Given the description of an element on the screen output the (x, y) to click on. 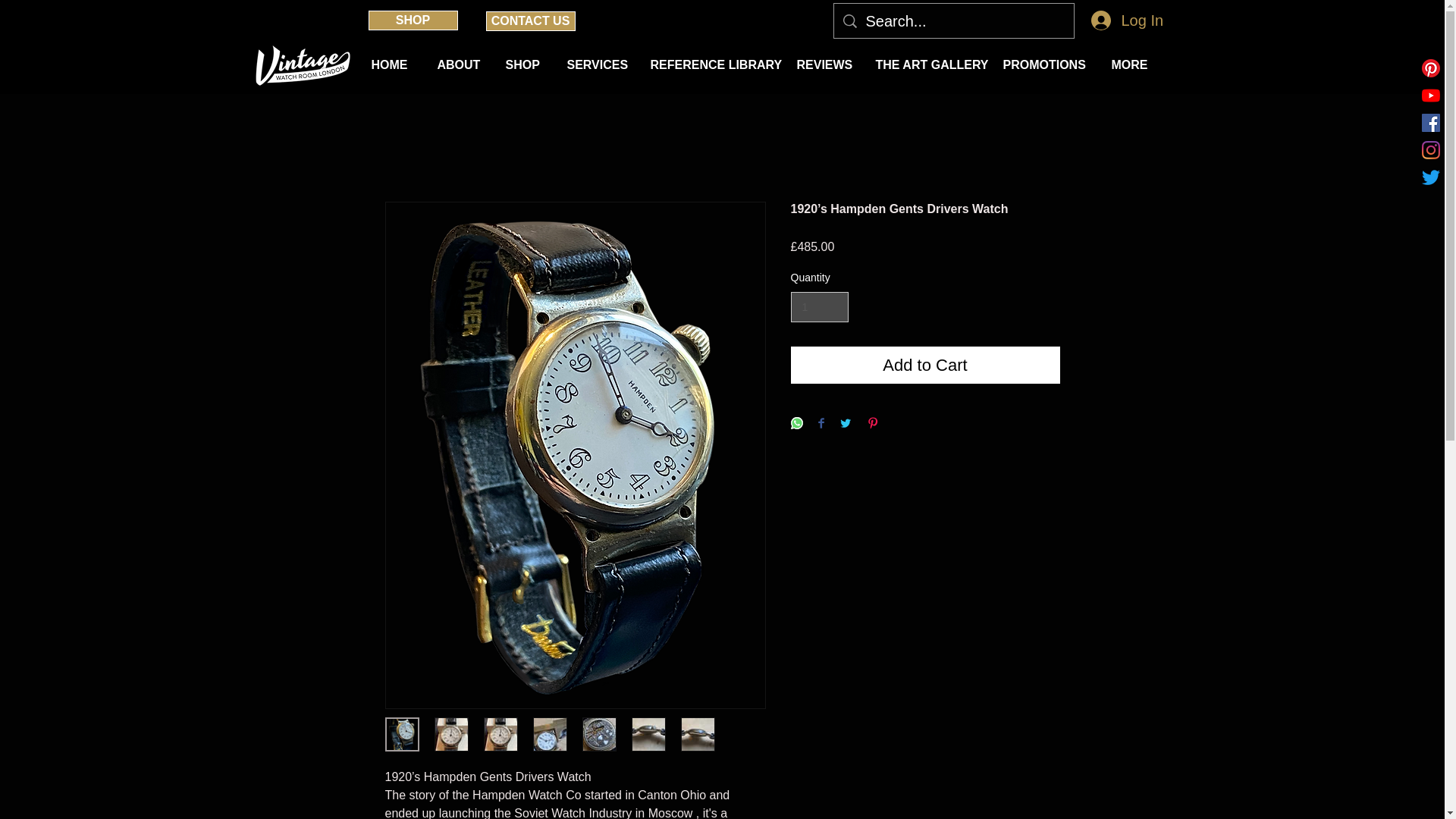
HOME (392, 65)
THE ART GALLERY (927, 65)
Log In (1124, 20)
REVIEWS (825, 65)
ABOUT (460, 65)
SERVICES (596, 65)
PROMOTIONS (1045, 65)
vintagewatchroom - logos - pentagon-09-09.png (299, 65)
SHOP (413, 20)
REFERENCE LIBRARY (711, 65)
1 (818, 306)
CONTACT US (529, 21)
